Given the description of an element on the screen output the (x, y) to click on. 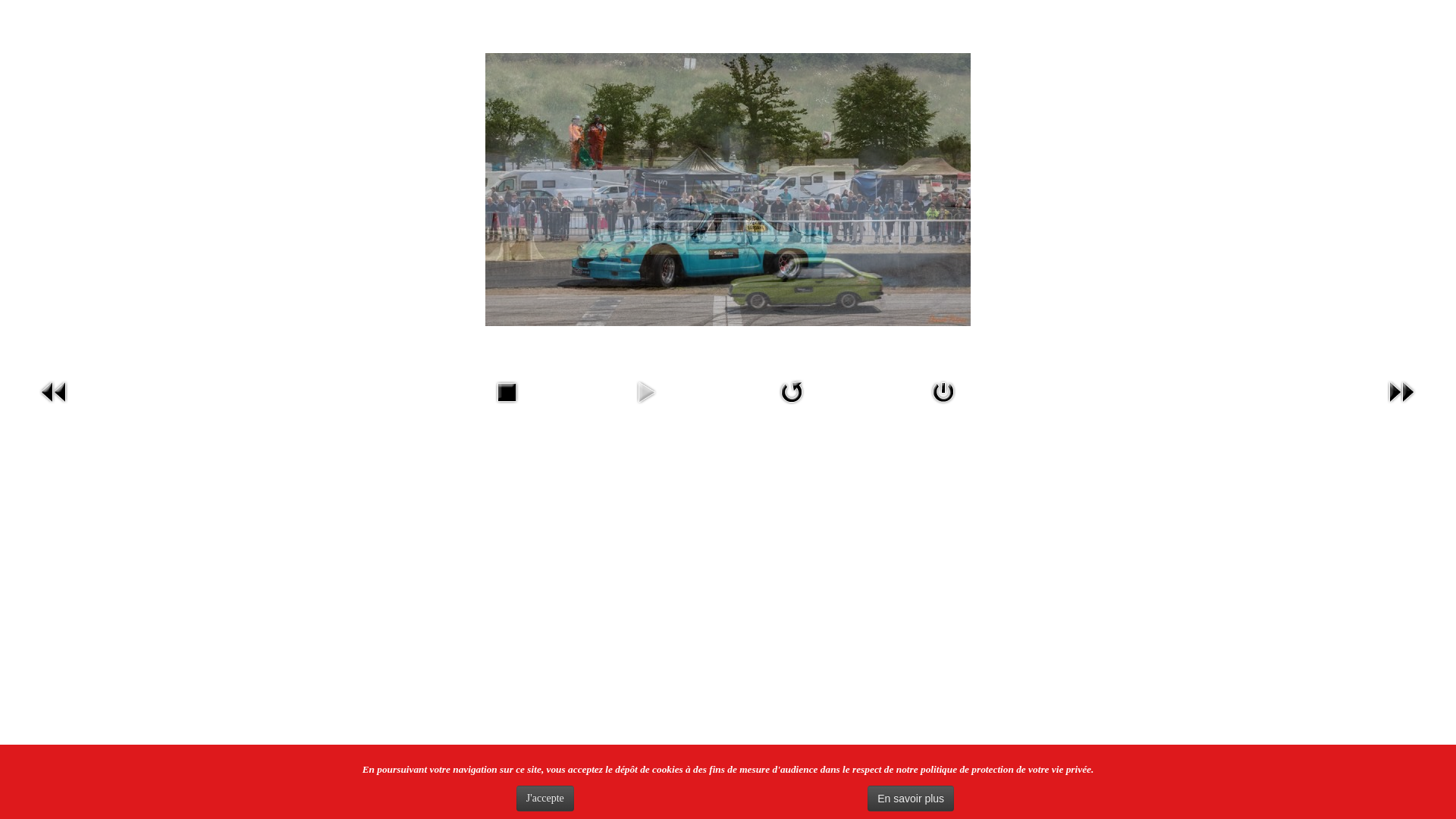
Stop Slideshow Element type: hover (506, 406)
Close Window Element type: hover (943, 406)
En savoir plus Element type: text (910, 798)
J'accepte Element type: text (545, 798)
Refresh Element type: hover (791, 406)
Previous Image Element type: hover (54, 406)
Next Image Element type: hover (1401, 406)
